Given the description of an element on the screen output the (x, y) to click on. 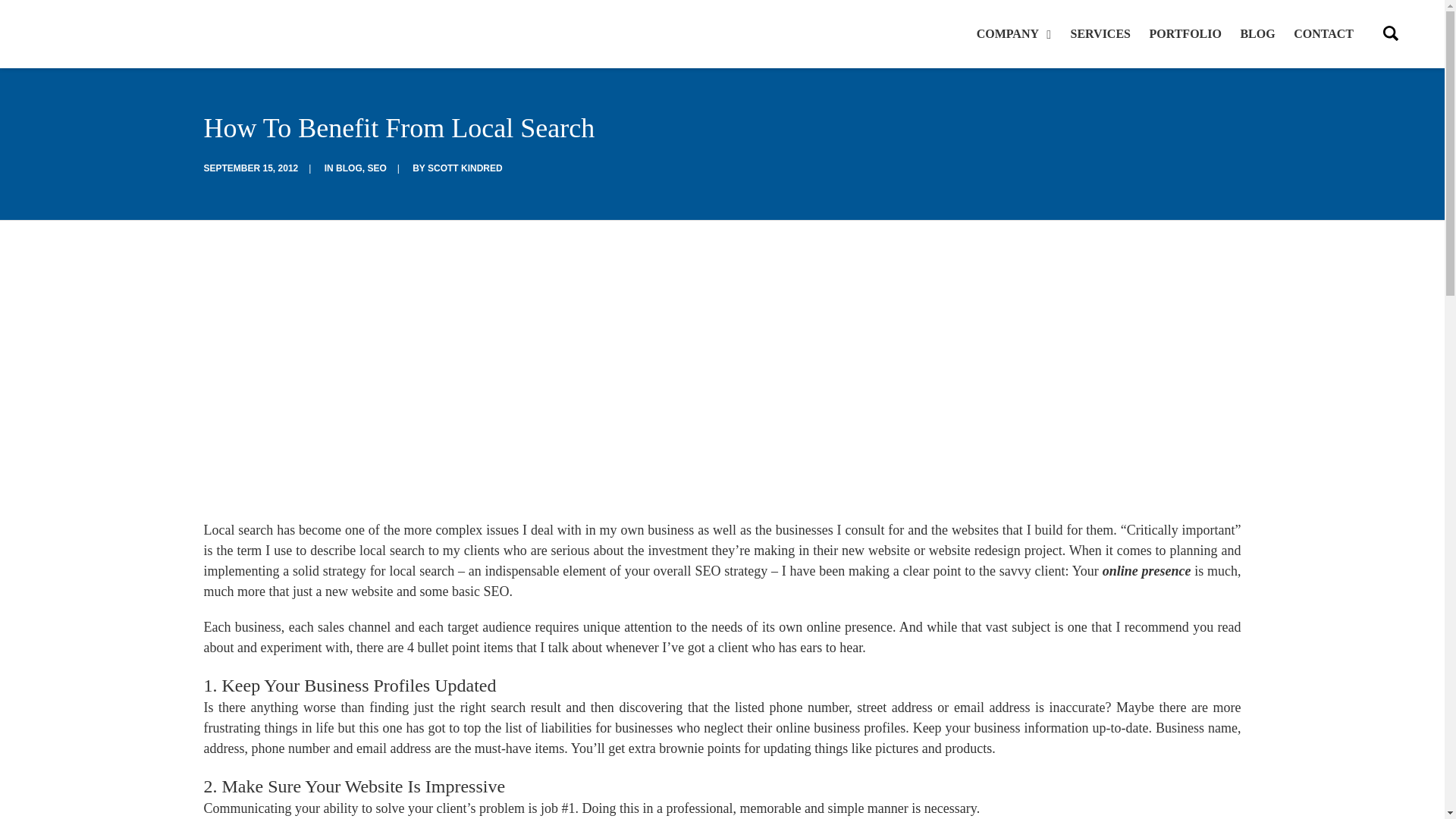
SEO (375, 167)
SCOTT KINDRED (465, 167)
PORTFOLIO (1184, 33)
SERVICES (1100, 33)
Local search energy? (722, 391)
CONTACT (1319, 33)
COMPANY (1017, 33)
BLOG (349, 167)
